Given the description of an element on the screen output the (x, y) to click on. 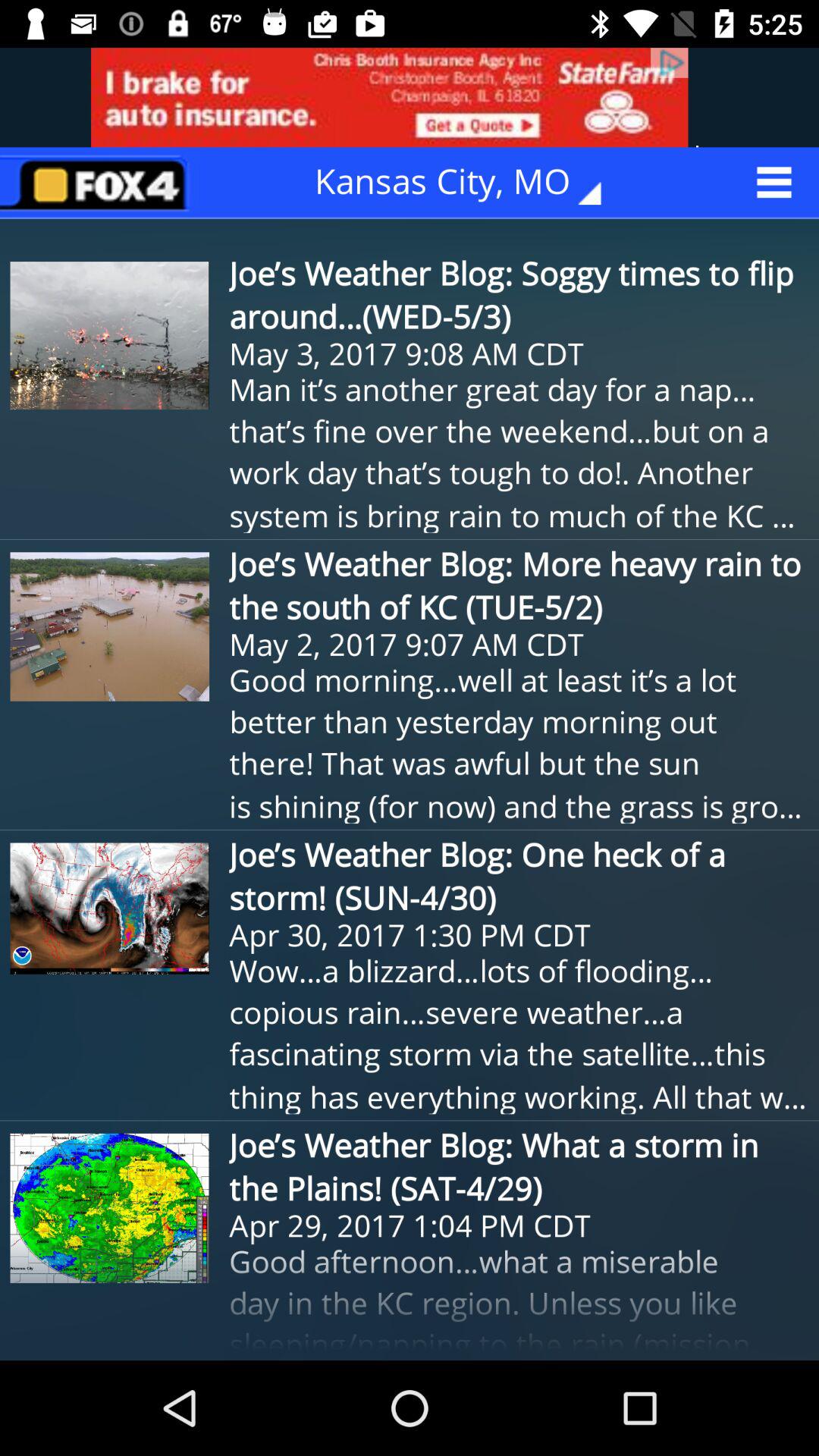
view page (99, 182)
